Given the description of an element on the screen output the (x, y) to click on. 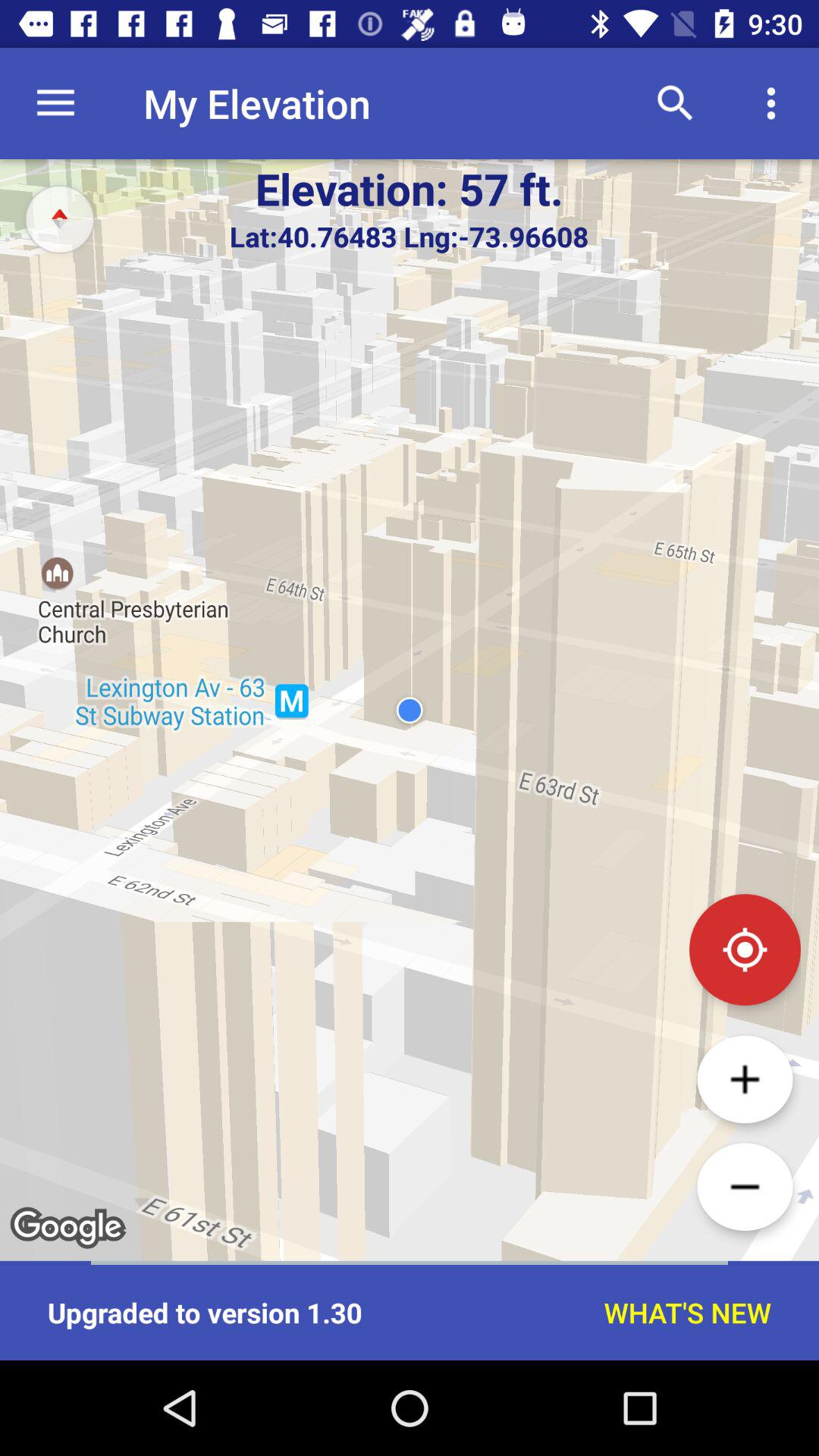
click map location option (744, 949)
